Given the description of an element on the screen output the (x, y) to click on. 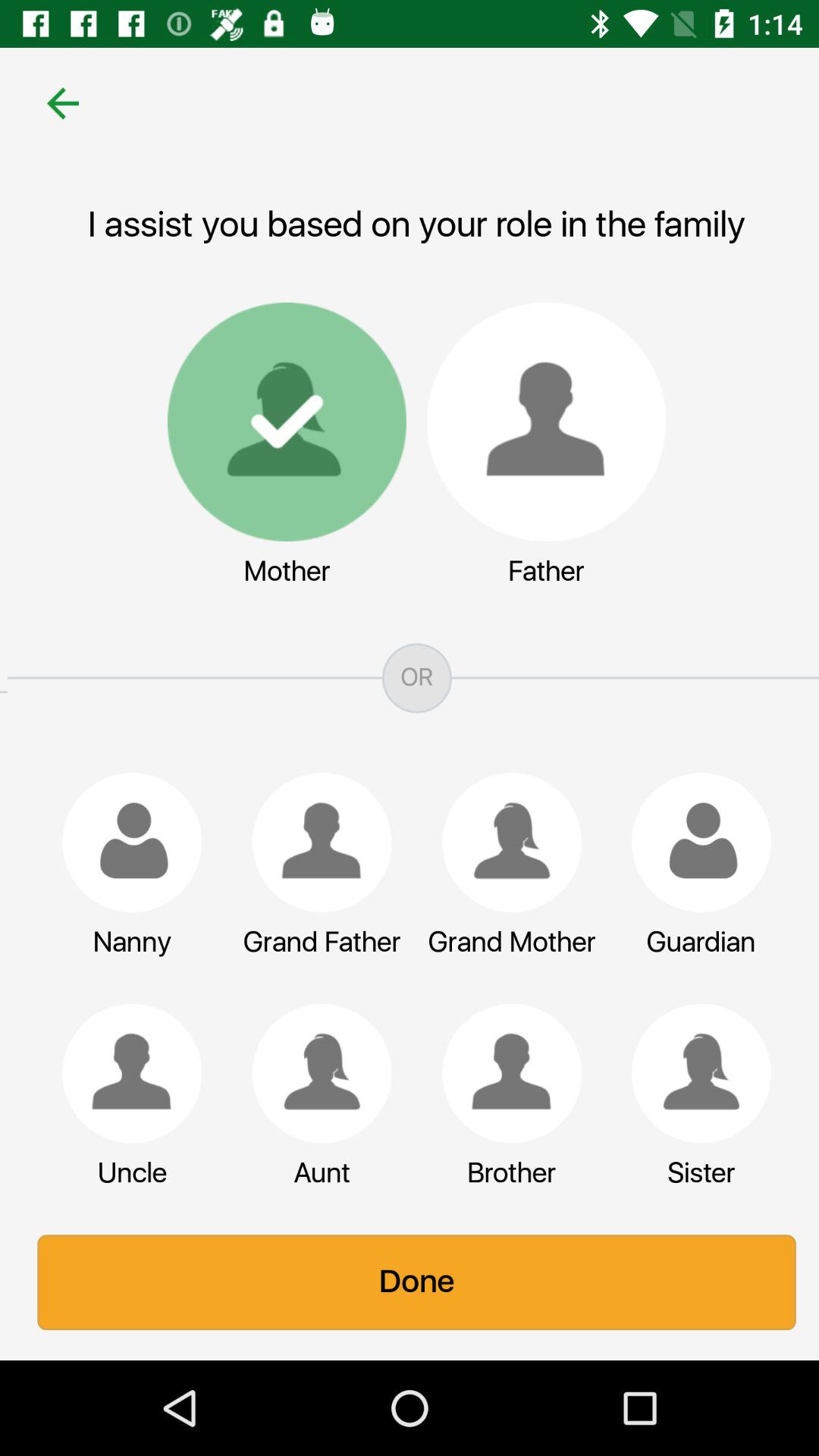
choose the item below nanny icon (124, 1073)
